Given the description of an element on the screen output the (x, y) to click on. 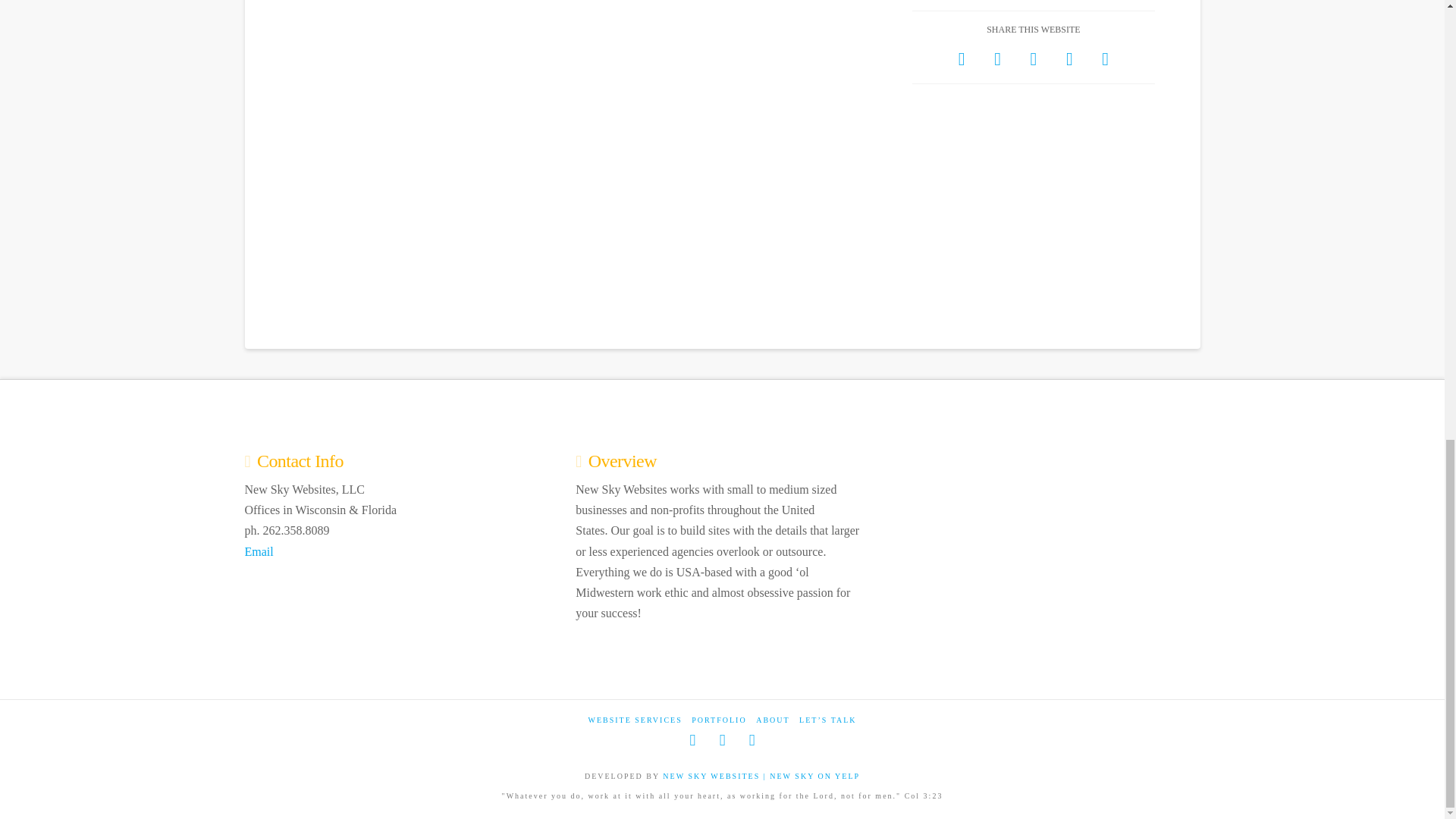
Share via Email (1104, 58)
Share on Facebook (961, 58)
Yelp Listing for New Sky Websites (815, 776)
Share on Pinterest (1069, 58)
Share on LinkedIn (1032, 58)
